Given the description of an element on the screen output the (x, y) to click on. 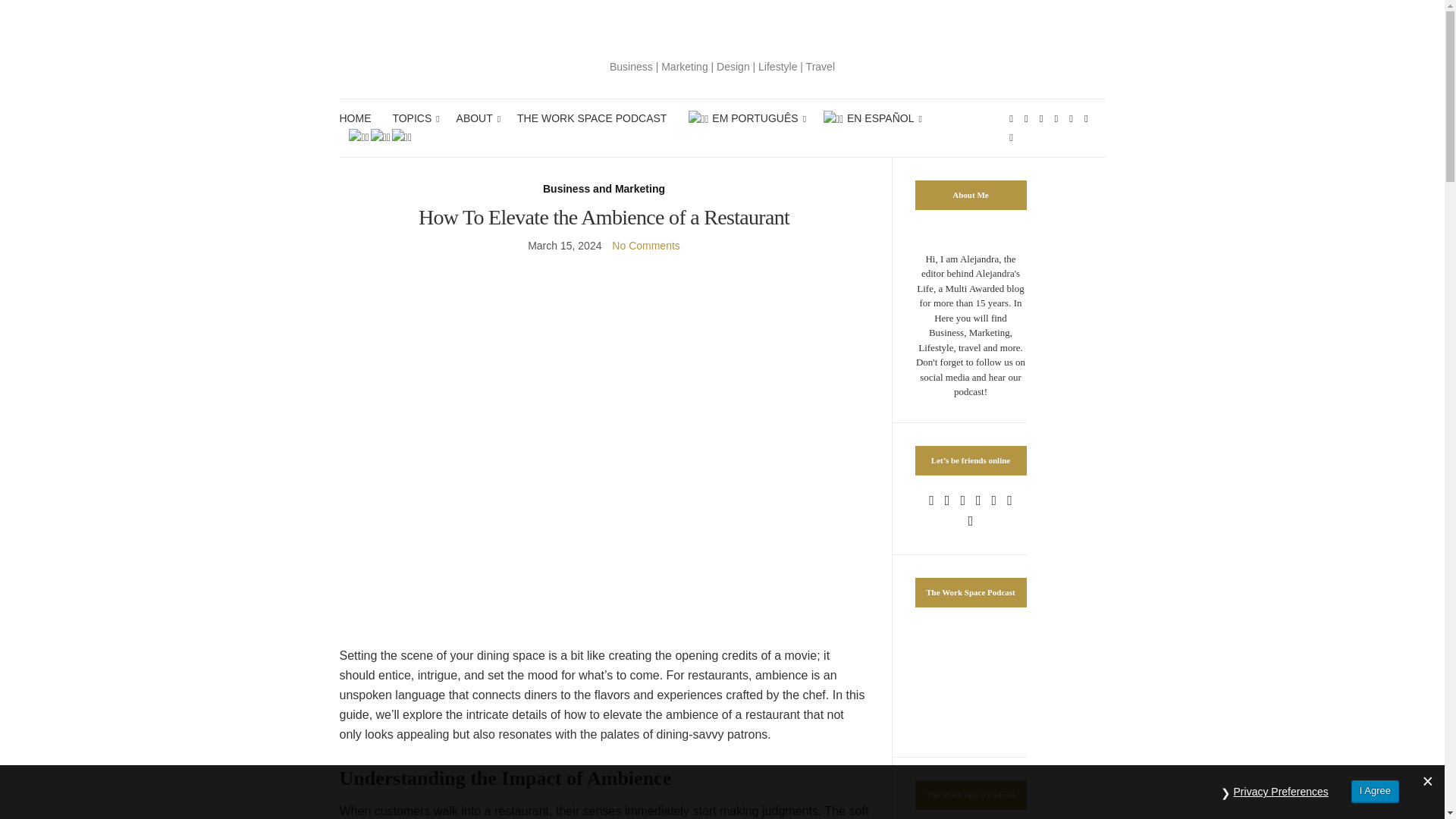
No Comments (645, 245)
Business and Marketing (604, 189)
ABOUT (476, 118)
TOPICS (412, 118)
THE WORK SPACE PODCAST (591, 118)
HOME (355, 118)
